Given the description of an element on the screen output the (x, y) to click on. 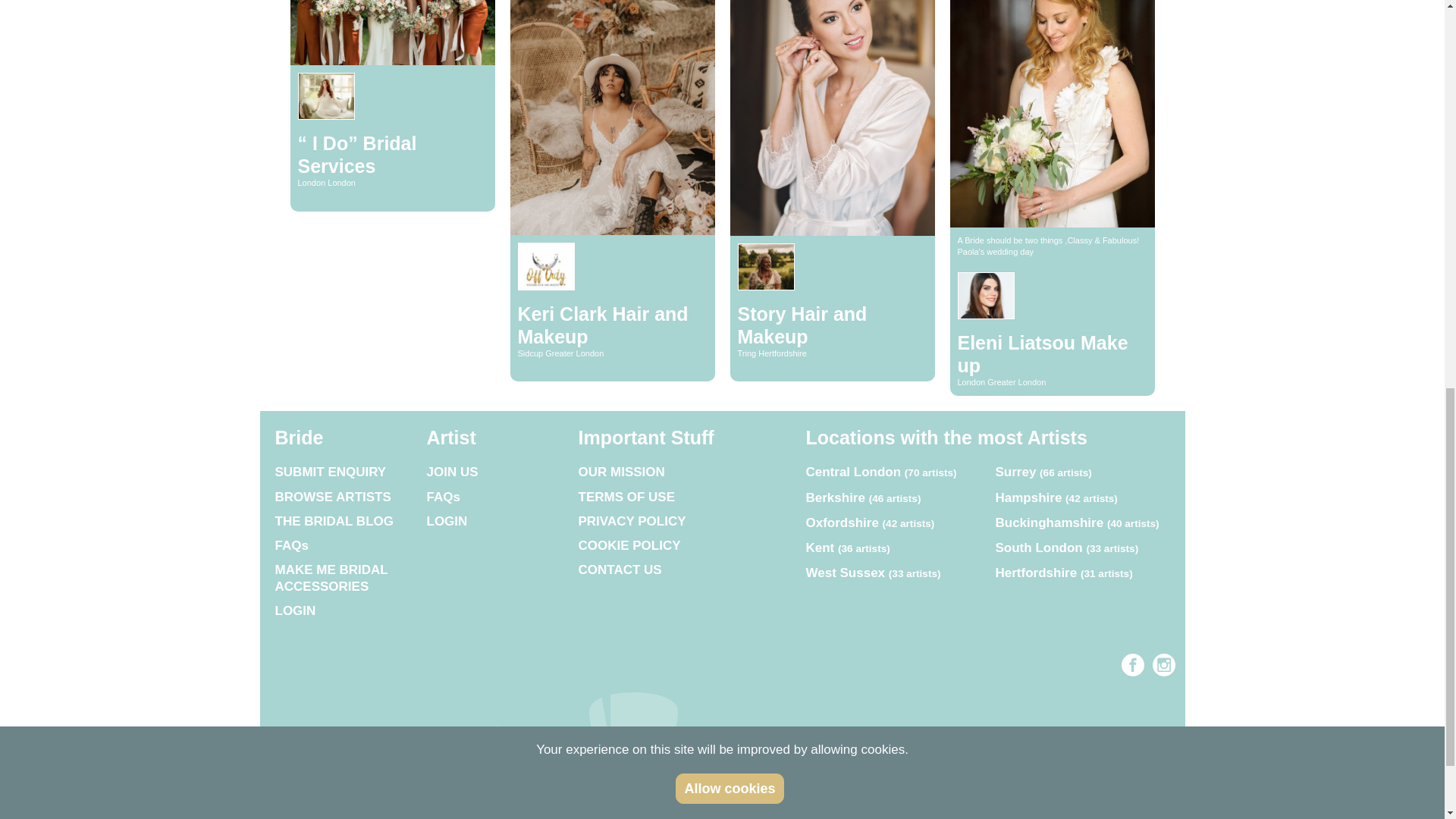
Facebook (1132, 664)
Instagram (1163, 664)
